Given the description of an element on the screen output the (x, y) to click on. 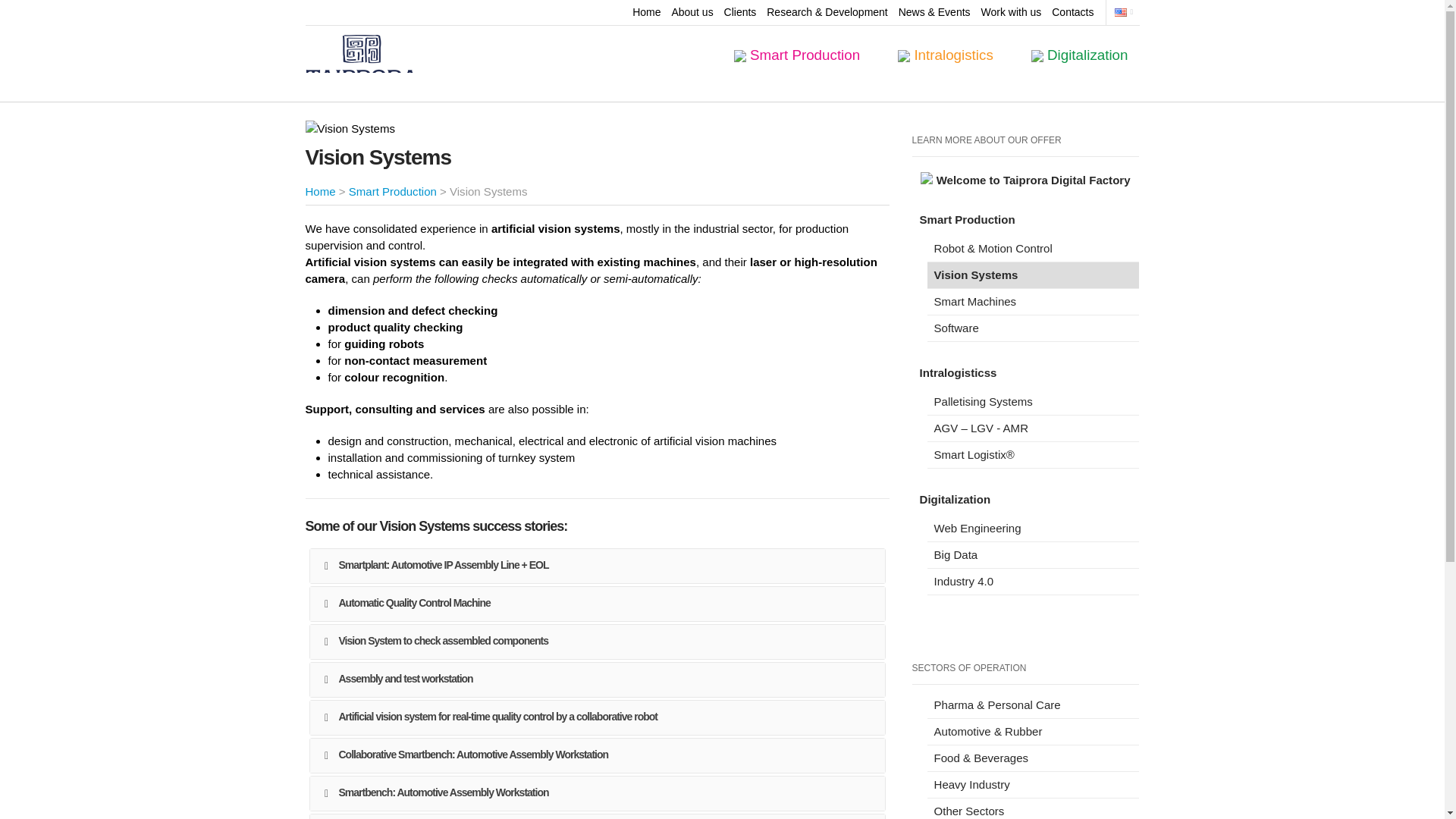
Contacts (1072, 9)
Smart Production (796, 54)
Digitalization (1080, 54)
Clients (740, 9)
Work with us (1010, 9)
Home (646, 9)
Intralogistics (945, 54)
About us (692, 9)
